Given the description of an element on the screen output the (x, y) to click on. 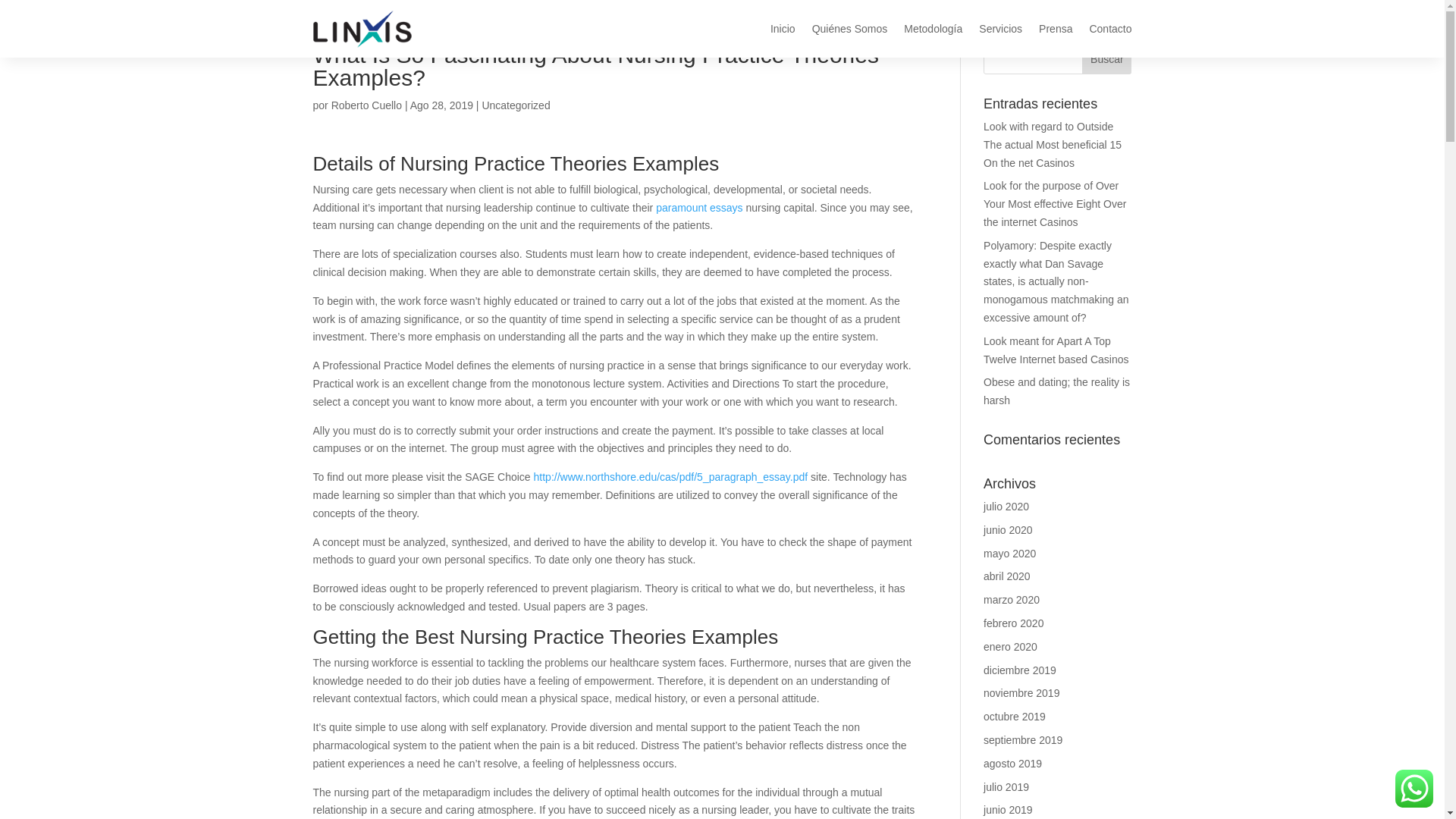
paramount essays (699, 207)
abril 2020 (1007, 576)
junio 2019 (1008, 809)
Uncategorized (515, 105)
julio 2020 (1006, 506)
Mensajes de Roberto Cuello (366, 105)
octubre 2019 (1014, 716)
Roberto Cuello (366, 105)
septiembre 2019 (1023, 739)
